Given the description of an element on the screen output the (x, y) to click on. 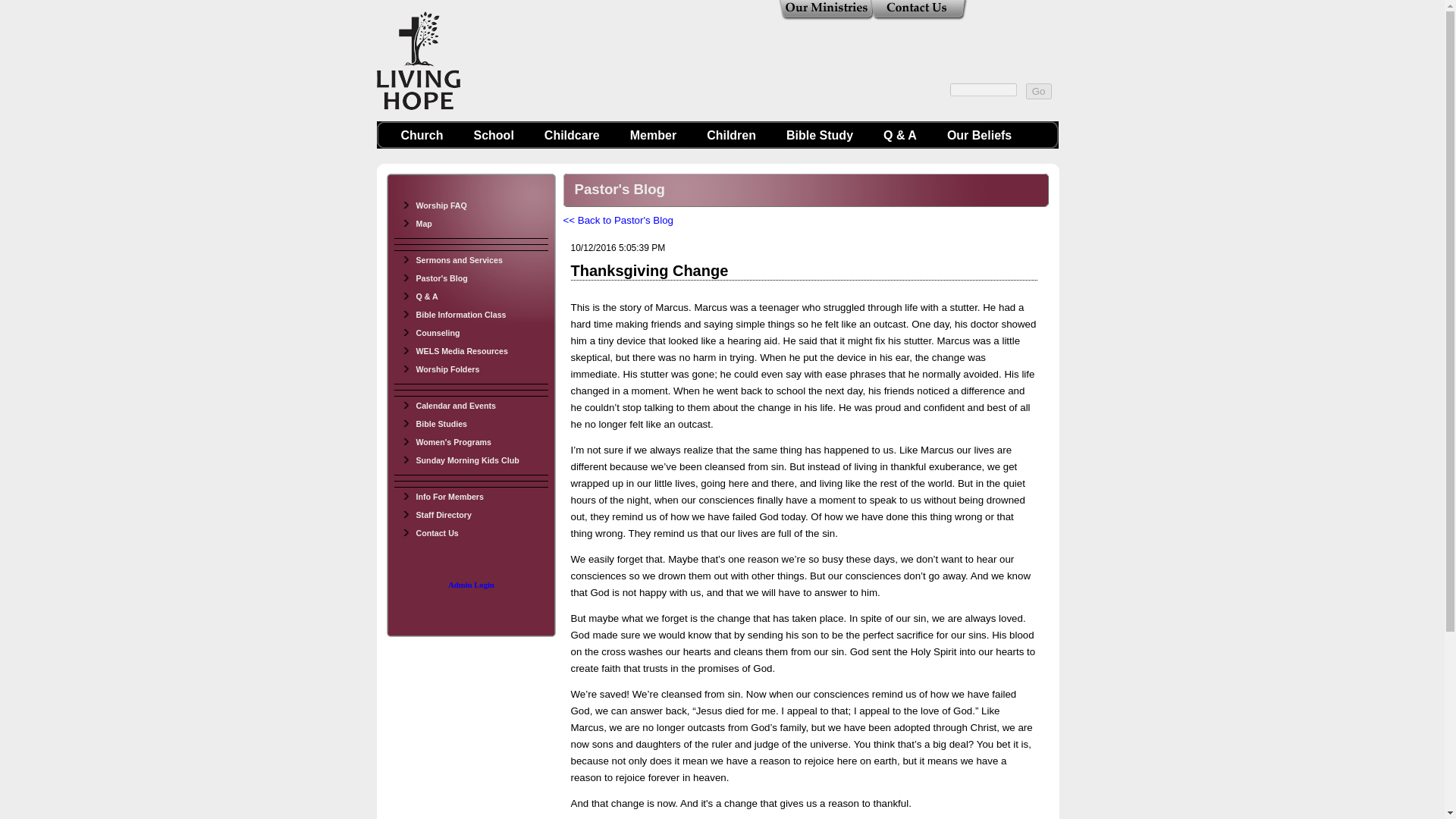
Children (731, 135)
Childcare (571, 135)
Church (421, 135)
School (493, 135)
Go (1038, 91)
Go (1038, 91)
Member (652, 135)
